Given the description of an element on the screen output the (x, y) to click on. 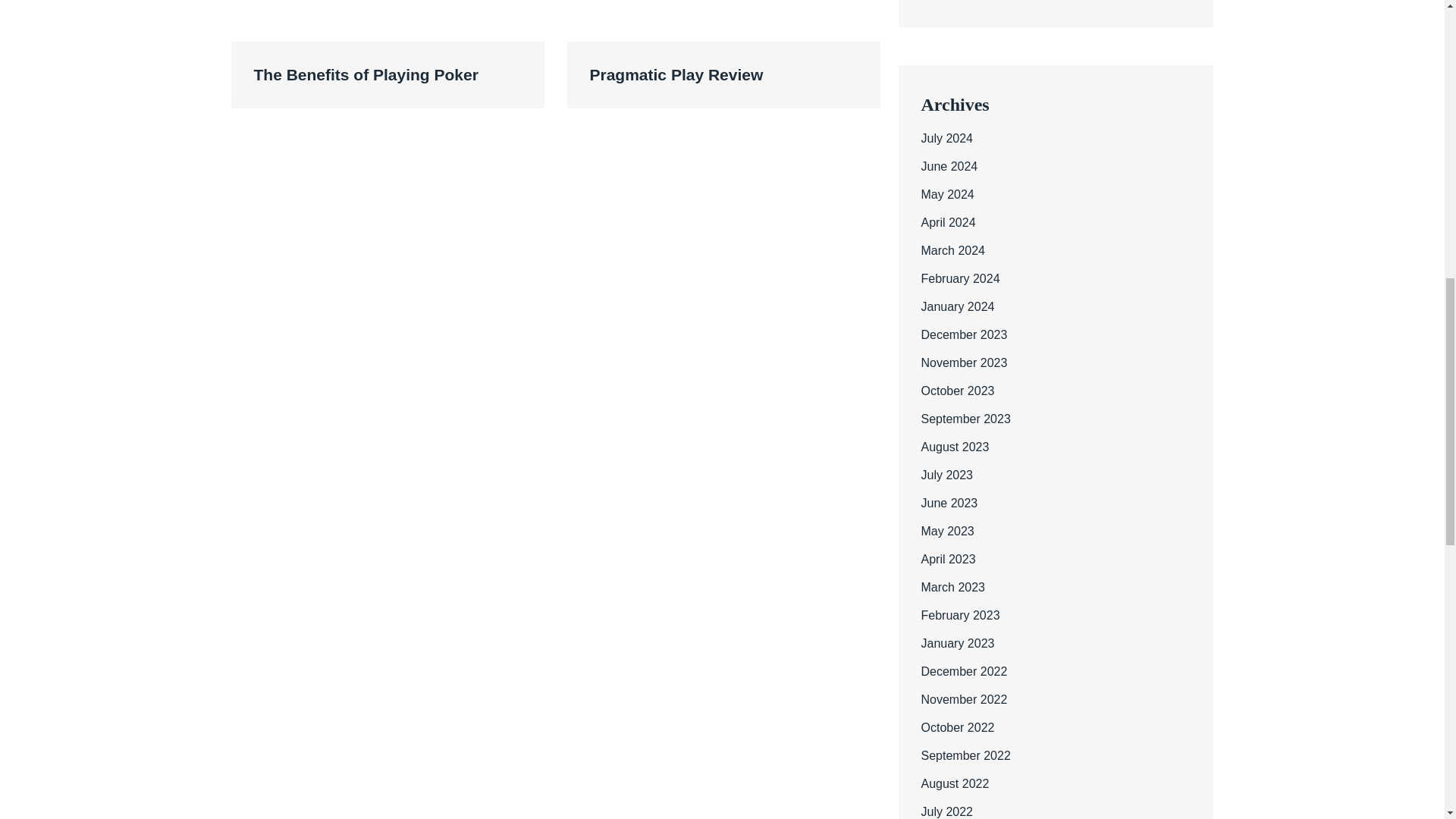
December 2023 (963, 334)
May 2024 (947, 194)
February 2023 (959, 615)
March 2023 (952, 586)
October 2023 (957, 390)
June 2023 (948, 502)
Pragmatic Play Review (723, 74)
The Benefits of Playing Poker (386, 74)
November 2023 (963, 362)
July 2023 (946, 474)
August 2023 (954, 446)
May 2023 (947, 530)
January 2024 (957, 306)
March 2024 (952, 250)
February 2024 (959, 278)
